Given the description of an element on the screen output the (x, y) to click on. 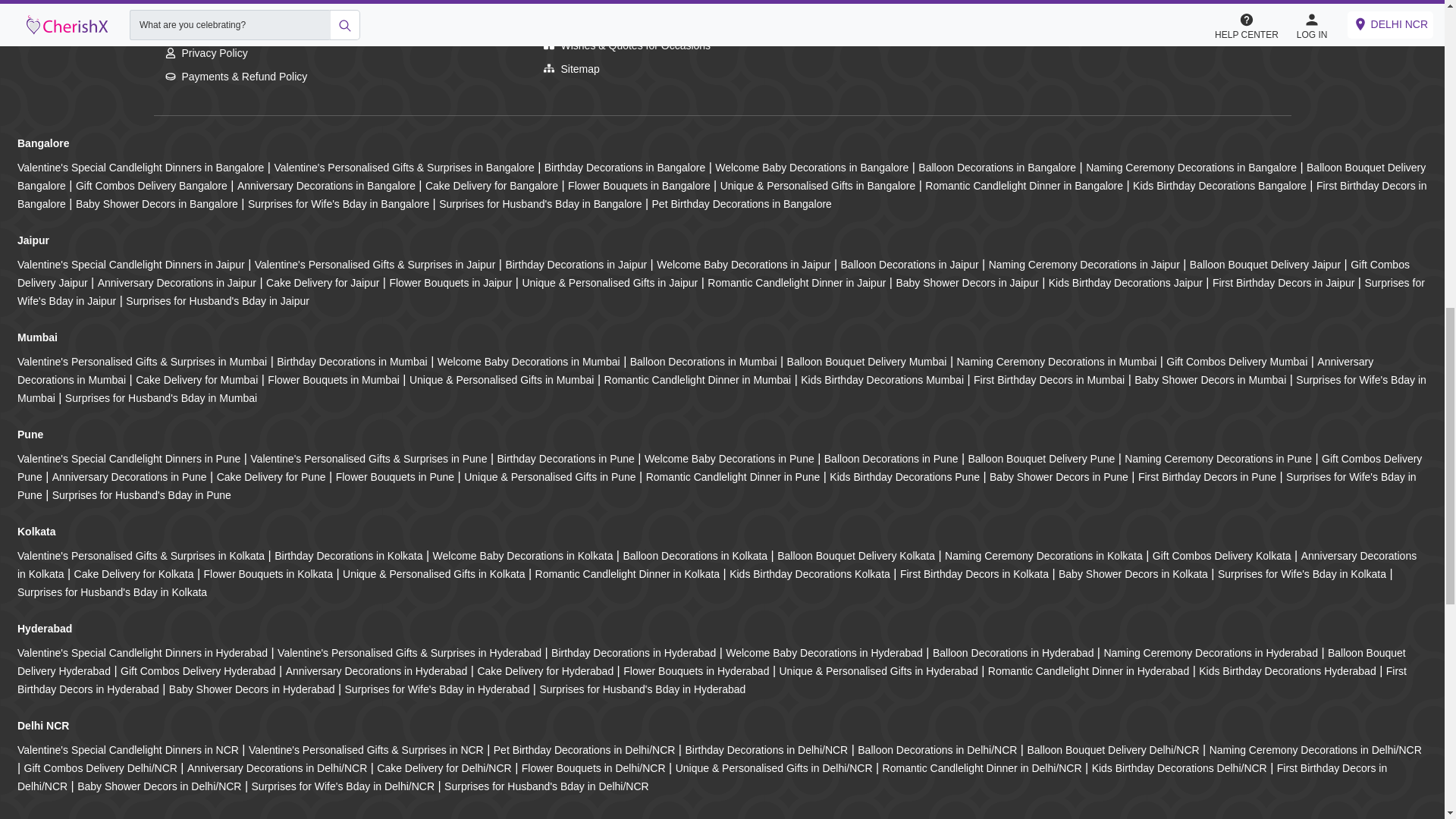
About Us (573, 21)
Blog (561, 2)
Bangalore (42, 143)
Privacy Policy (206, 52)
Call Us (190, 6)
Gift Combos Delivery Bangalore (151, 185)
Birthday Decorations in Bangalore (624, 167)
Balloon Decorations in Bangalore (996, 167)
Welcome Baby Decorations in Bangalore (811, 167)
Naming Ceremony Decorations in Bangalore (1191, 167)
